Given the description of an element on the screen output the (x, y) to click on. 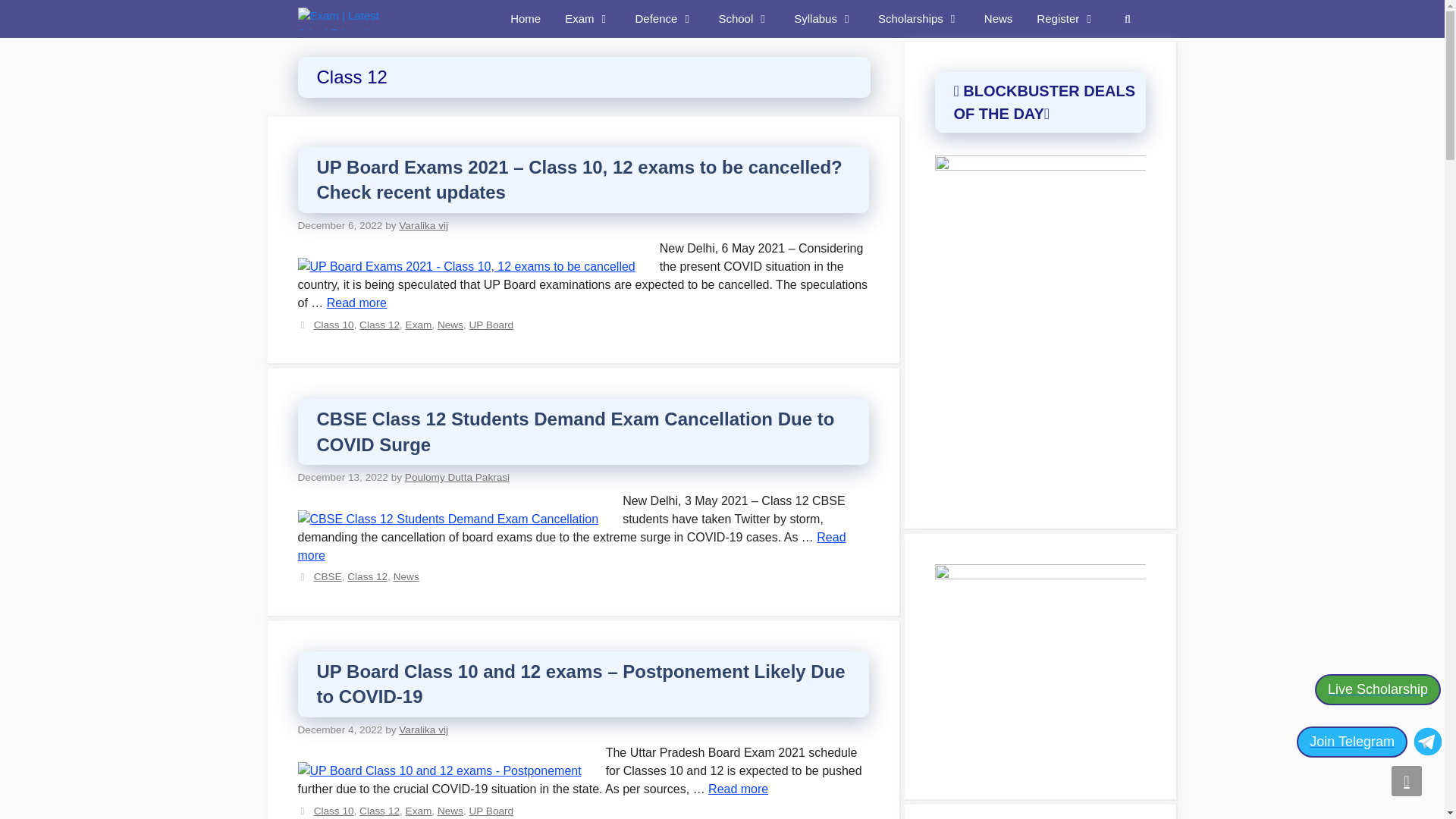
View all posts by Varalika vij (423, 729)
View all posts by Poulomy Dutta Pakrasi (456, 477)
View all posts by Varalika vij (423, 225)
